Given the description of an element on the screen output the (x, y) to click on. 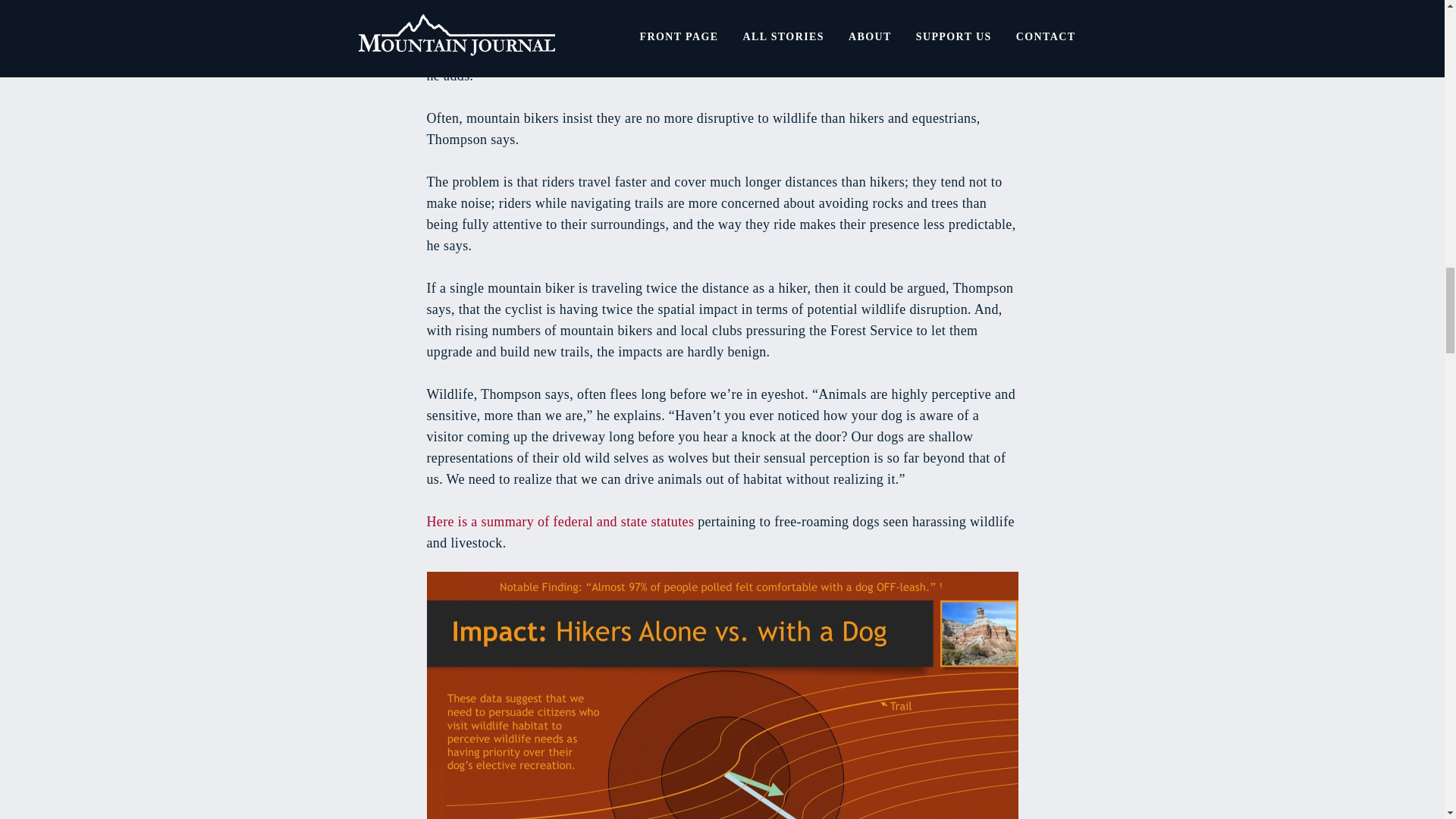
Here is a summary of federal and state statutes (560, 521)
